Given the description of an element on the screen output the (x, y) to click on. 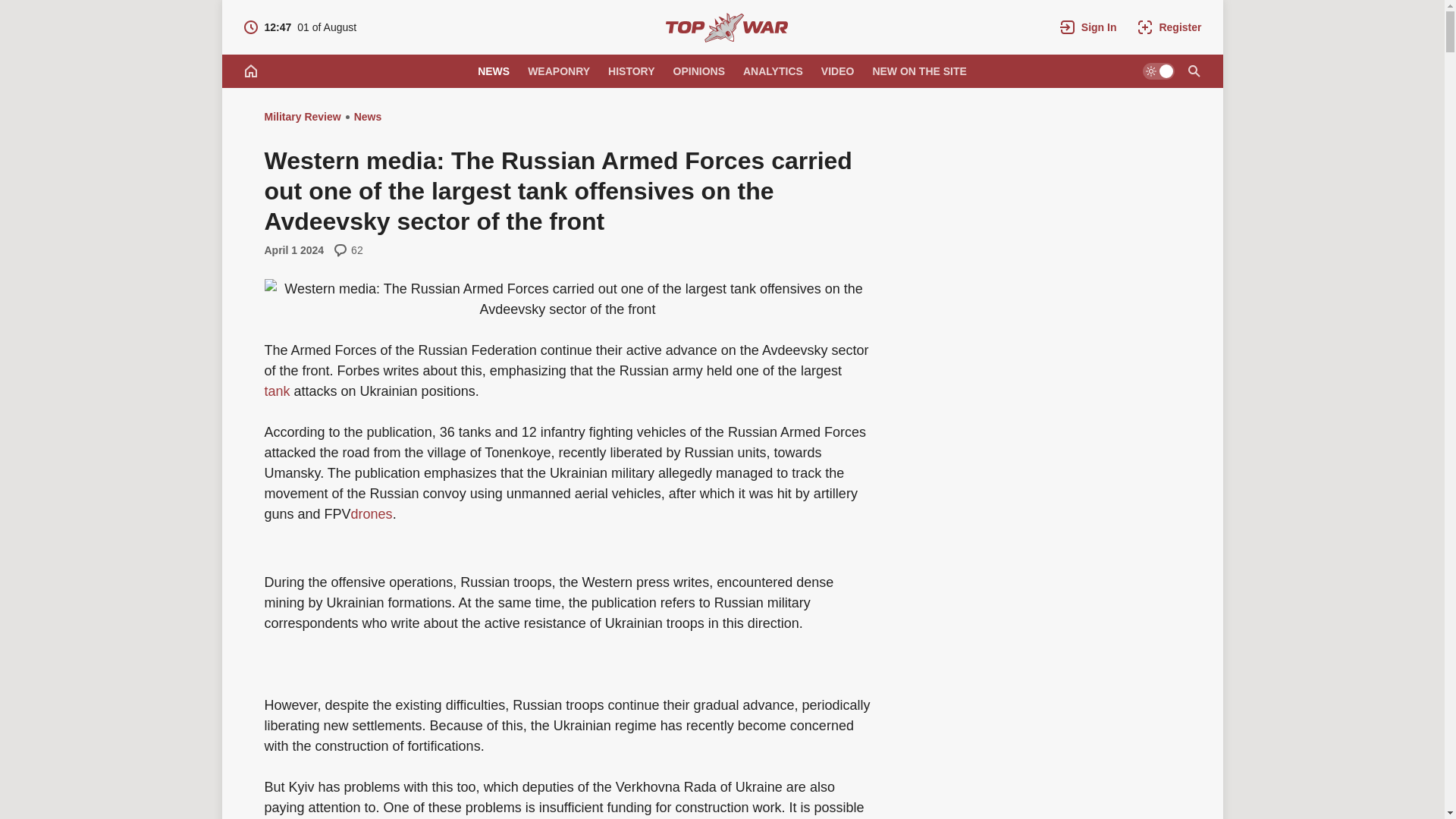
Military Review (726, 27)
Register (1168, 27)
Tanks (276, 391)
HISTORY (630, 70)
Sign In (1088, 27)
OPINIONS (698, 70)
WEAPONRY (299, 27)
Site search (558, 70)
NEWS (1192, 70)
ANALYTICS (493, 70)
drones (772, 70)
NEW ON THE SITE (371, 513)
Military Review (919, 70)
VIDEO (301, 116)
